Given the description of an element on the screen output the (x, y) to click on. 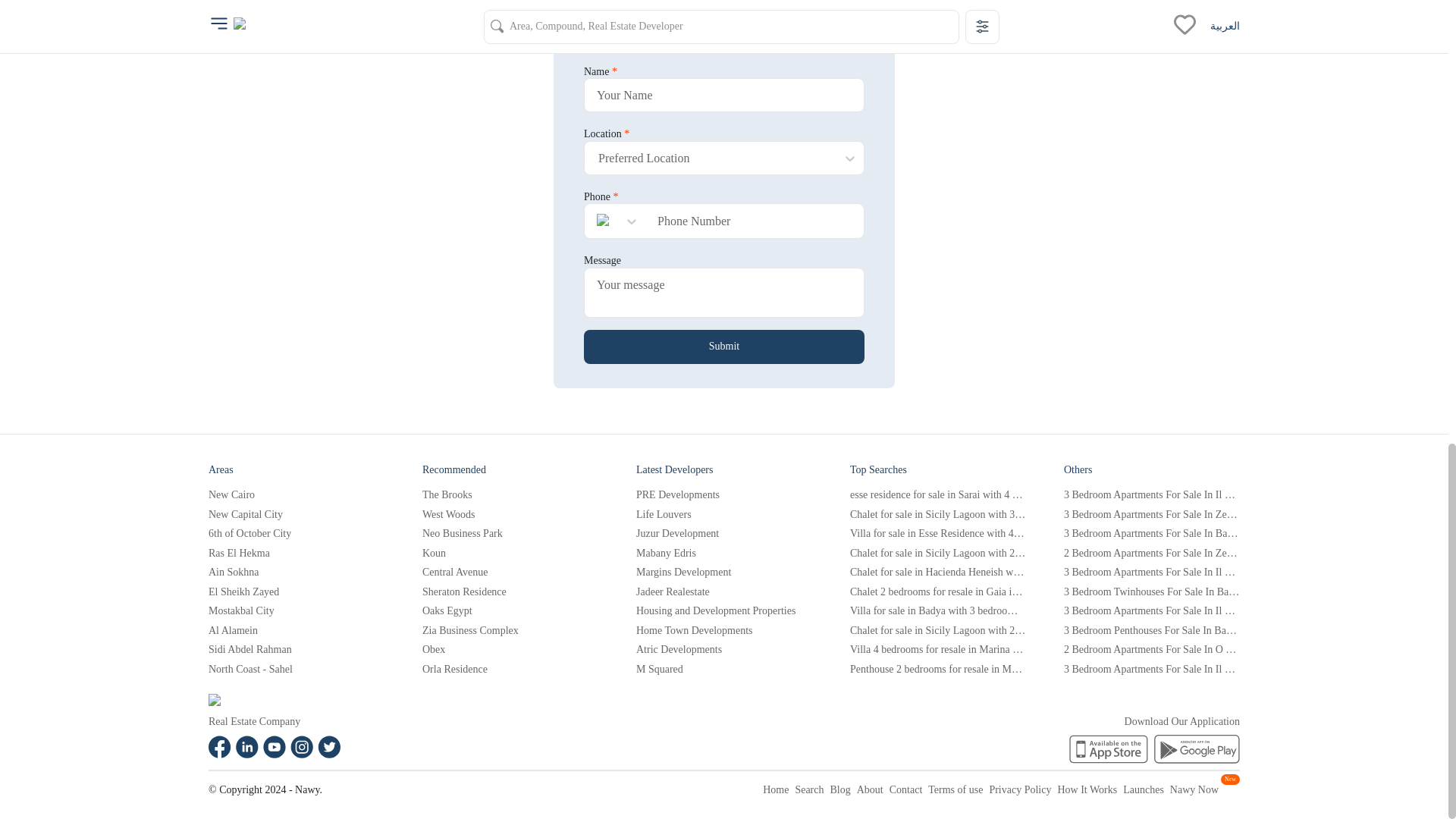
Zia Business Complex (510, 631)
Neo Business Park (510, 533)
Home Town Developments (724, 631)
Ain Sokhna (296, 572)
Jadeer Realestate (724, 591)
North Coast - Sahel (296, 668)
Central Avenue (510, 572)
New Cairo (296, 495)
Housing and Development Properties (724, 611)
The Brooks (510, 495)
Life Louvers (724, 513)
Mostakbal City (296, 611)
El Sheikh Zayed (296, 591)
Sheraton Residence (510, 591)
New Capital City (296, 513)
